Given the description of an element on the screen output the (x, y) to click on. 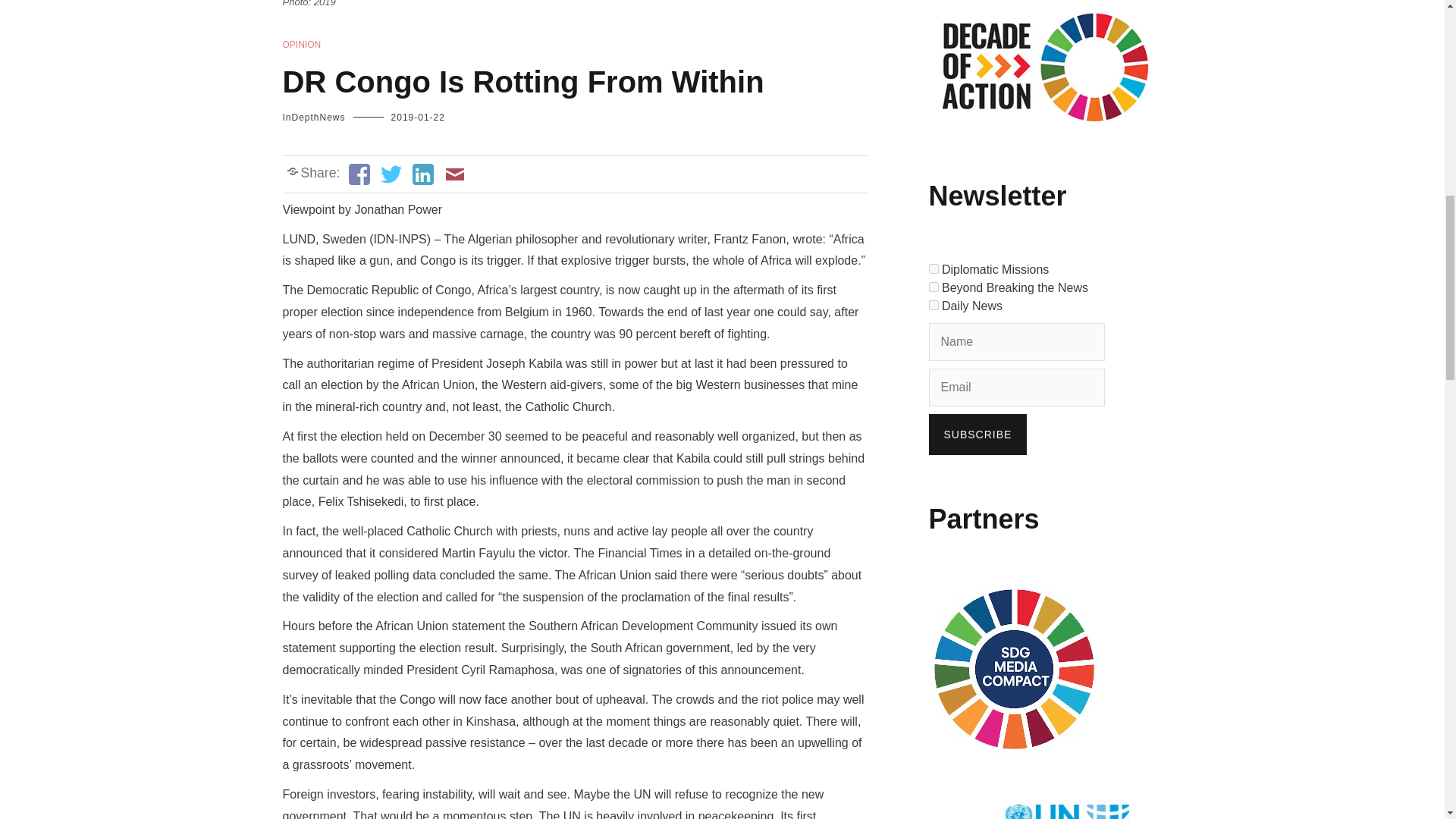
8 (932, 268)
9 (932, 286)
10 (932, 305)
Subscribe (977, 434)
